Given the description of an element on the screen output the (x, y) to click on. 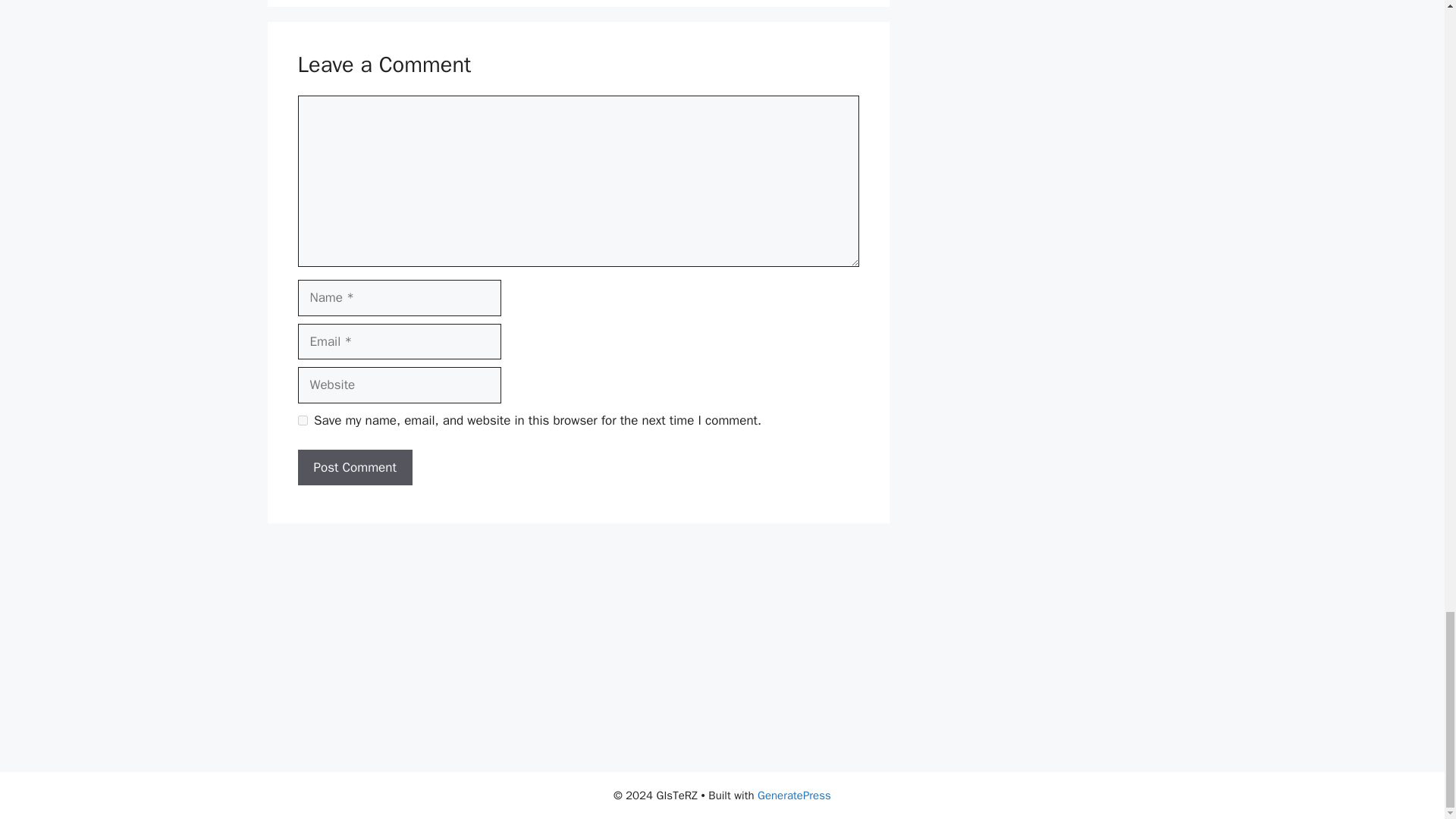
Post Comment (354, 467)
yes (302, 420)
Post Comment (354, 467)
